Given the description of an element on the screen output the (x, y) to click on. 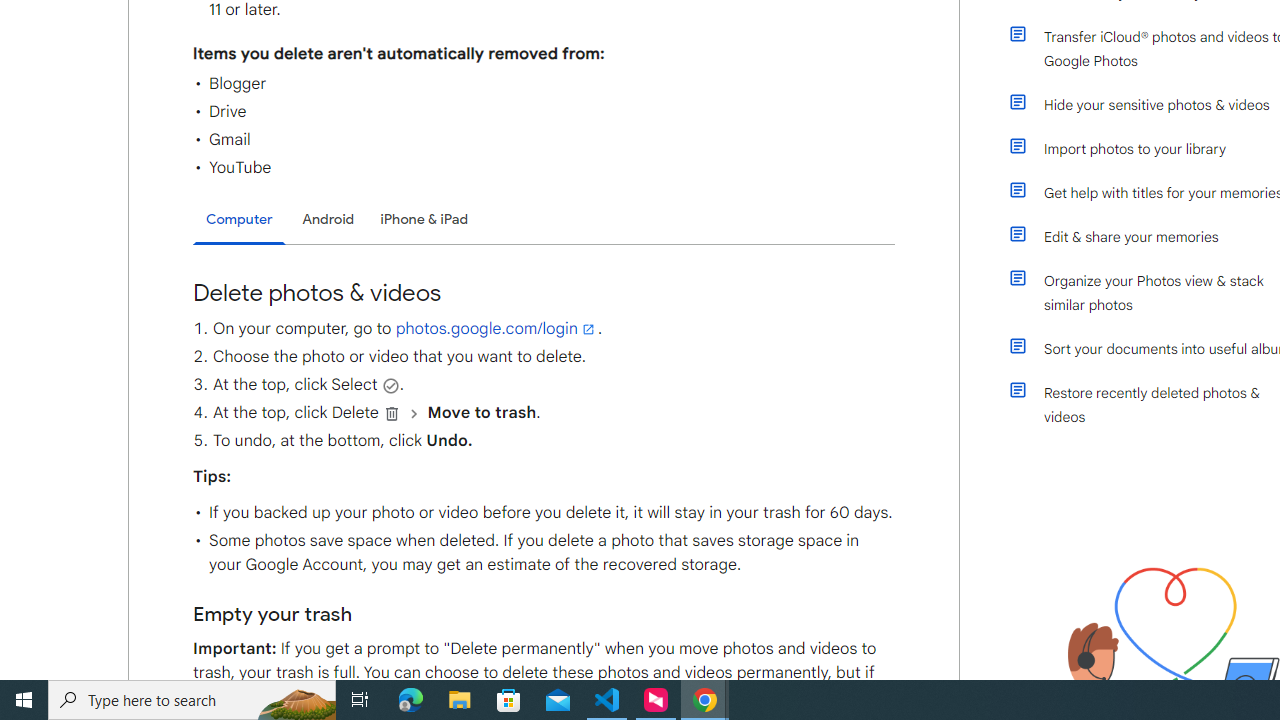
Delete (391, 413)
iPhone & iPad (424, 219)
Select (390, 385)
and then (413, 413)
photos.google.com/login (496, 328)
Computer (239, 219)
Android (328, 219)
